Given the description of an element on the screen output the (x, y) to click on. 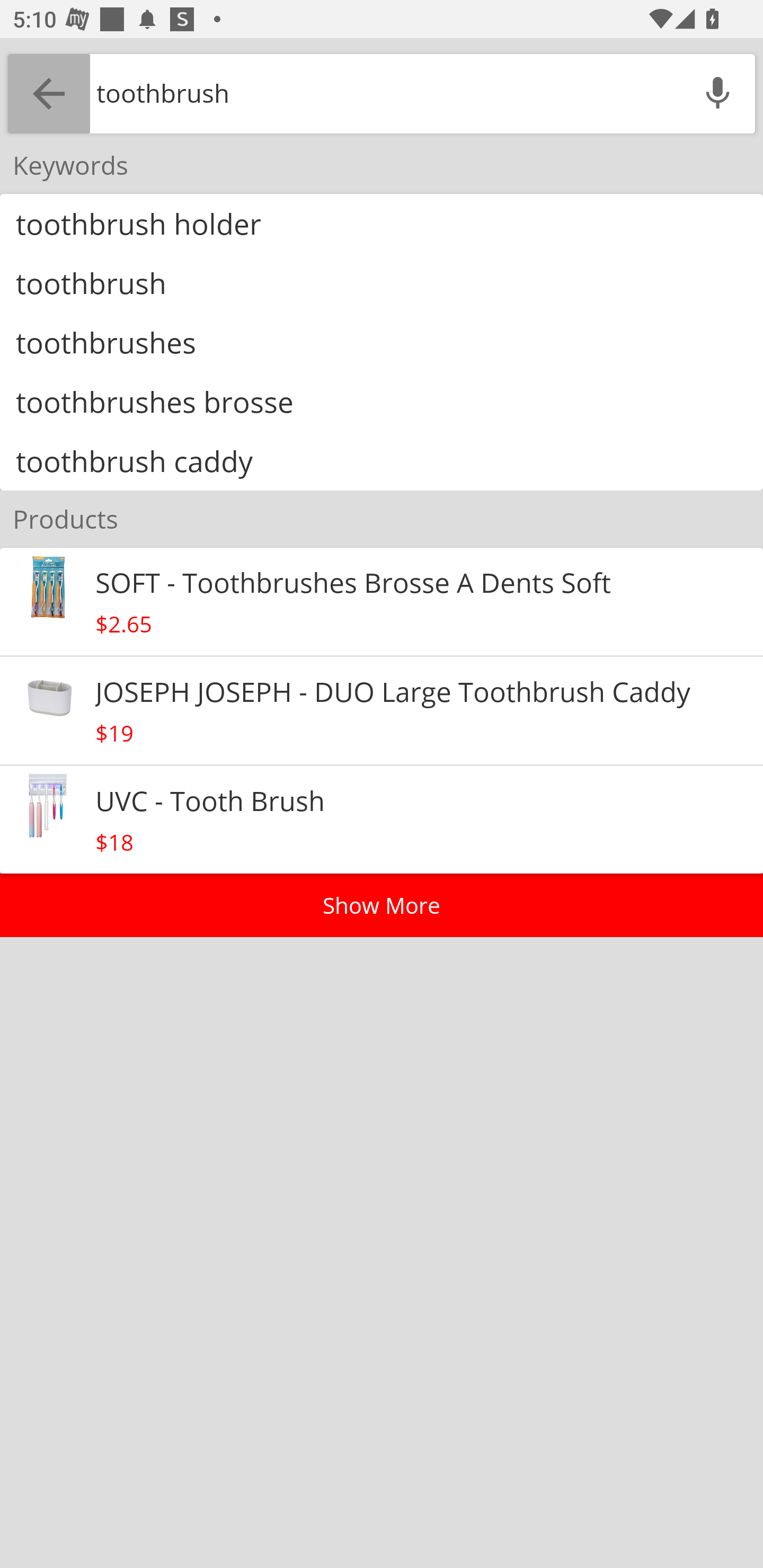
toothbrush (385, 93)
toothbrush holder (381, 223)
toothbrush (381, 282)
toothbrushes (381, 341)
toothbrushes brosse (381, 401)
toothbrush caddy (381, 460)
SOFT - Toothbrushes Brosse A Dents Soft $2.65 (381, 601)
JOSEPH JOSEPH - DUO Large Toothbrush Caddy $19 (381, 710)
UVC - Tooth Brush $18 (381, 819)
Show More (381, 905)
